Given the description of an element on the screen output the (x, y) to click on. 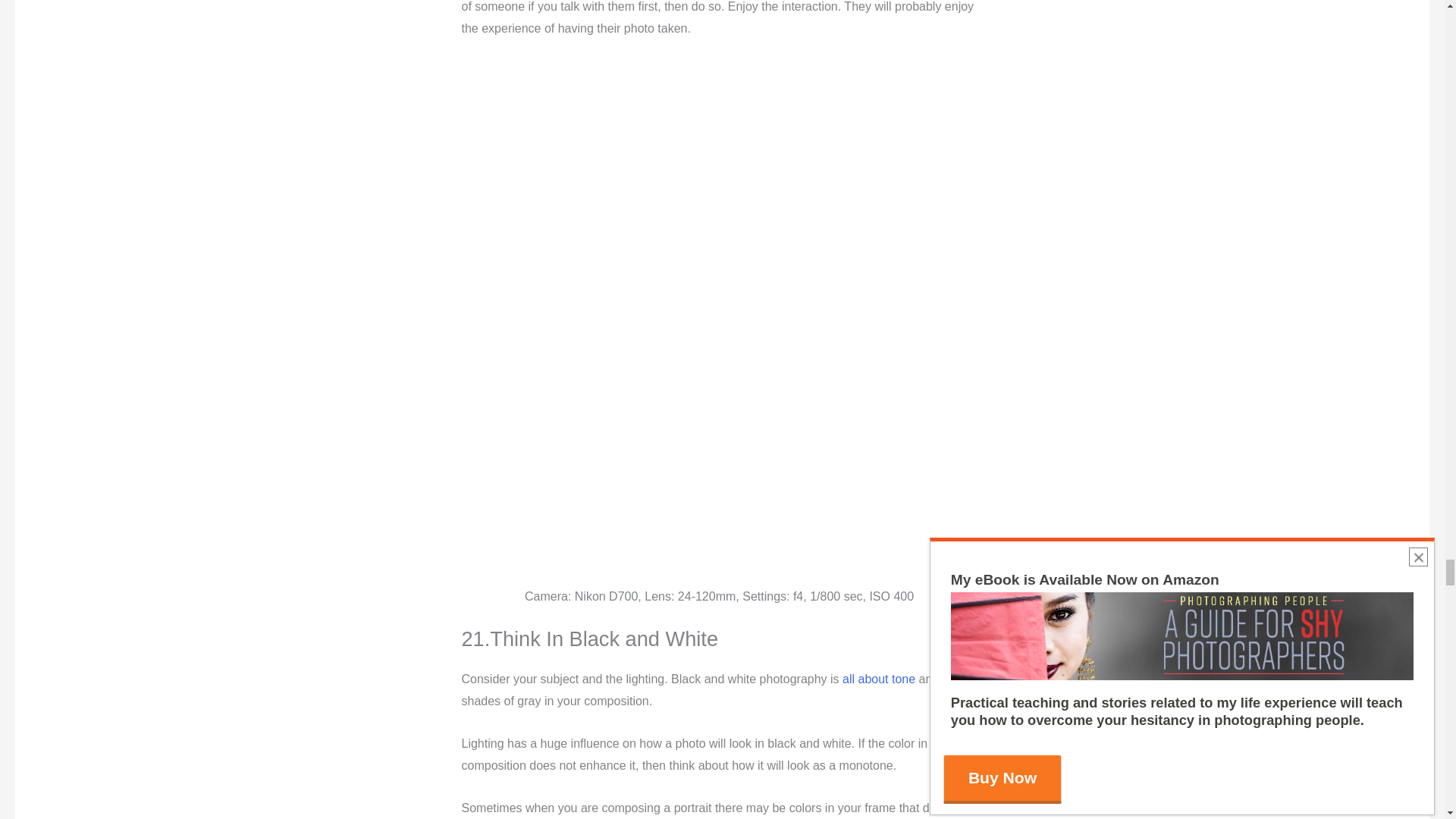
all about tone (879, 678)
